Given the description of an element on the screen output the (x, y) to click on. 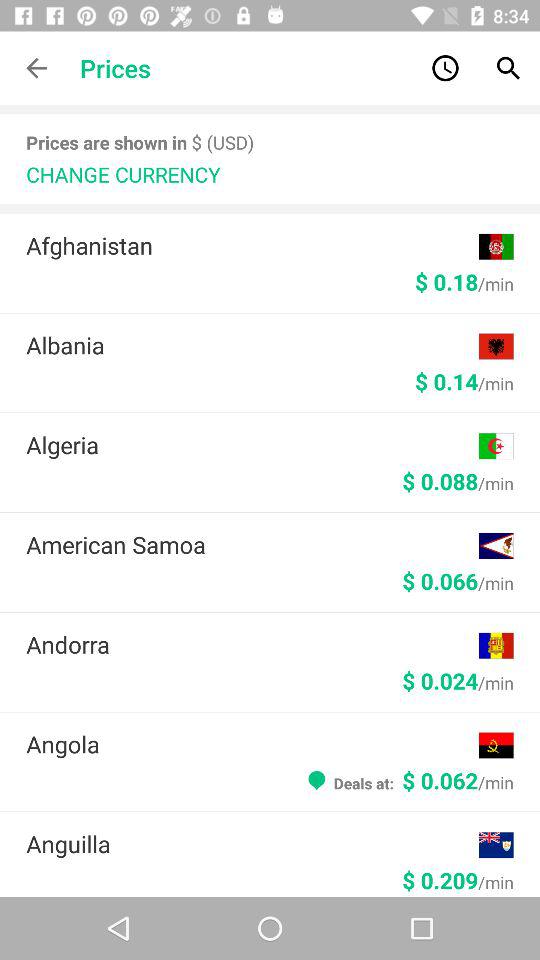
jump to the prices are shown item (140, 142)
